Given the description of an element on the screen output the (x, y) to click on. 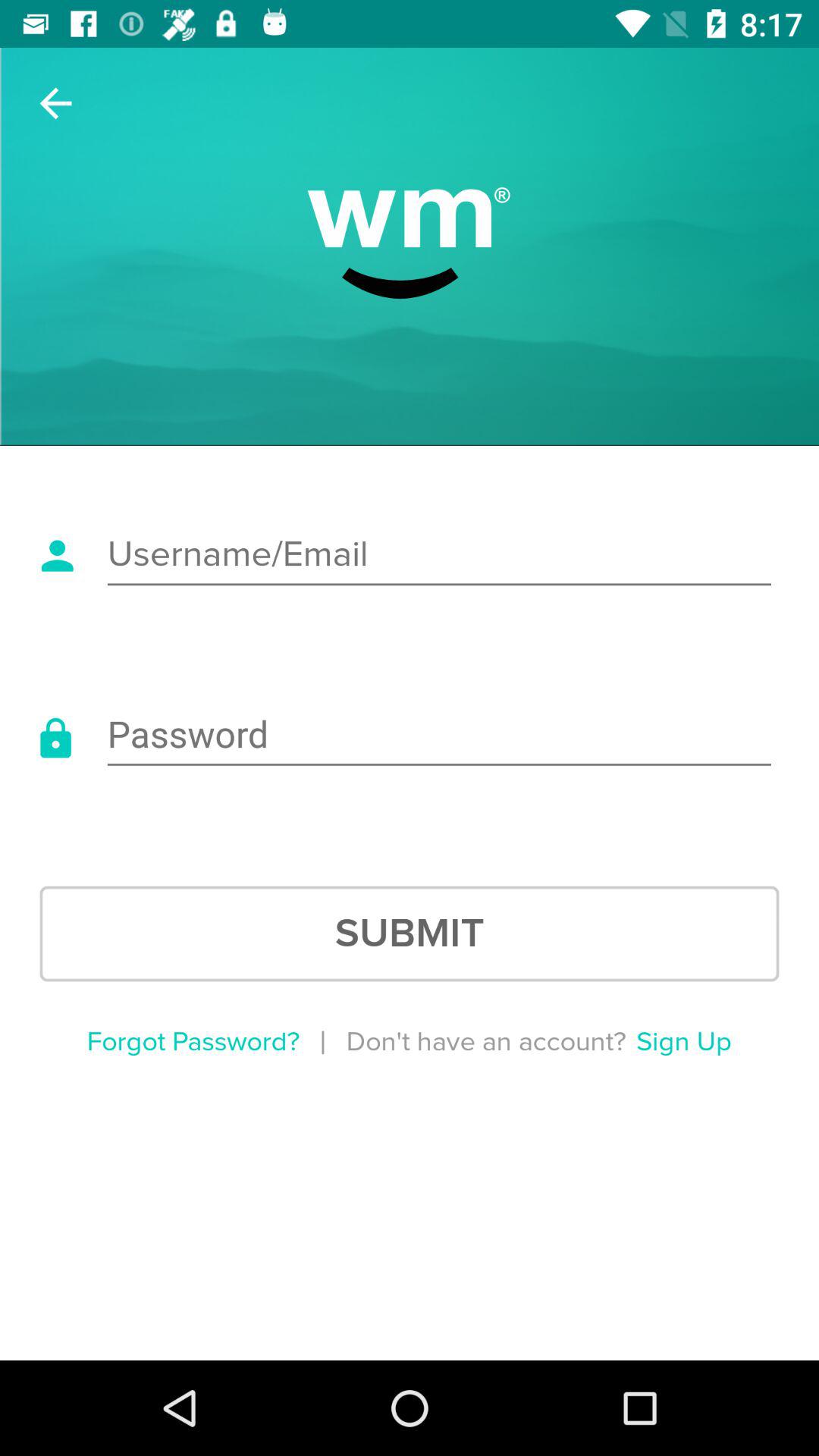
scroll until submit icon (409, 933)
